Given the description of an element on the screen output the (x, y) to click on. 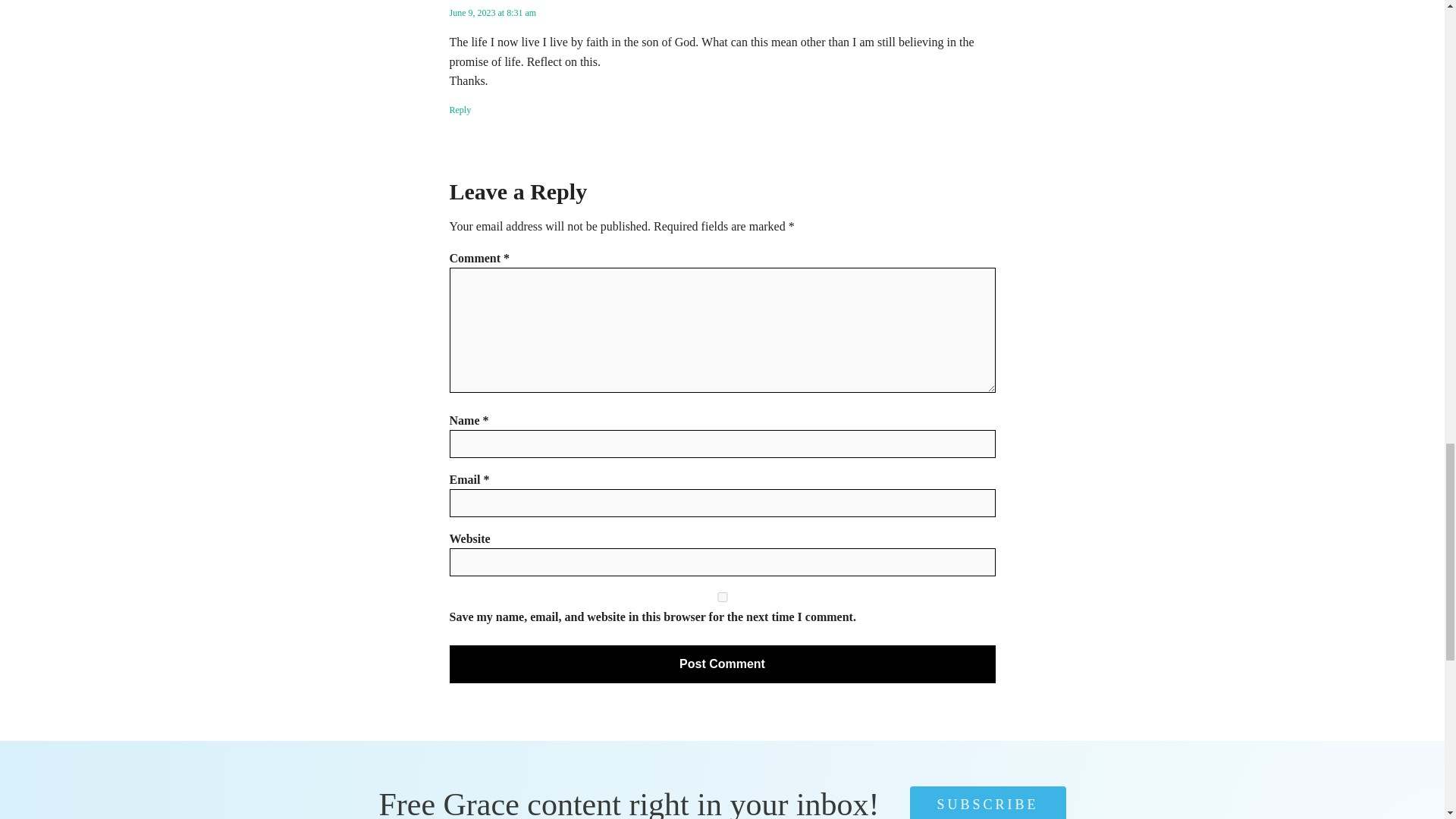
yes (721, 596)
Post Comment (721, 664)
